Given the description of an element on the screen output the (x, y) to click on. 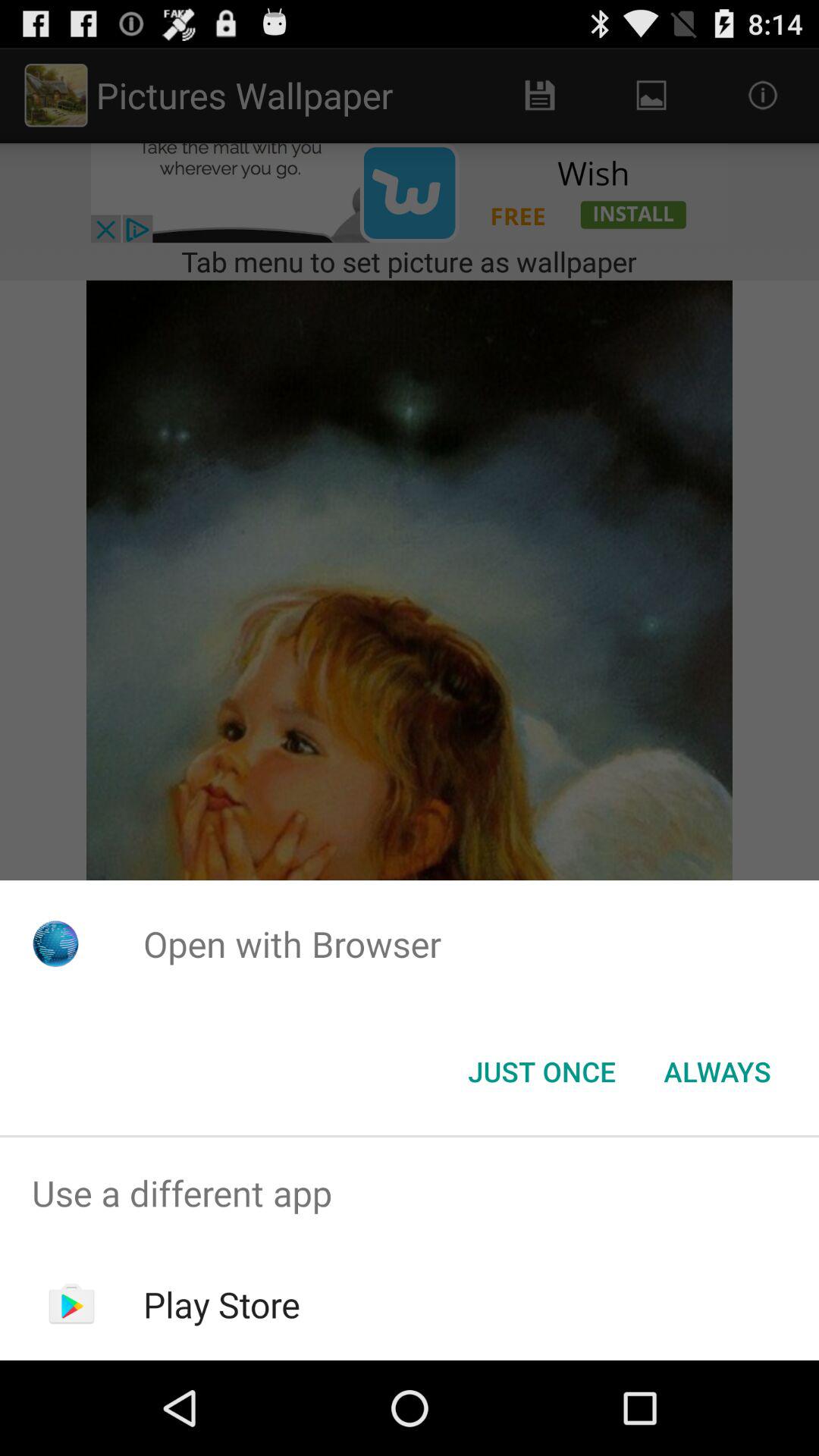
launch app above play store (409, 1192)
